Given the description of an element on the screen output the (x, y) to click on. 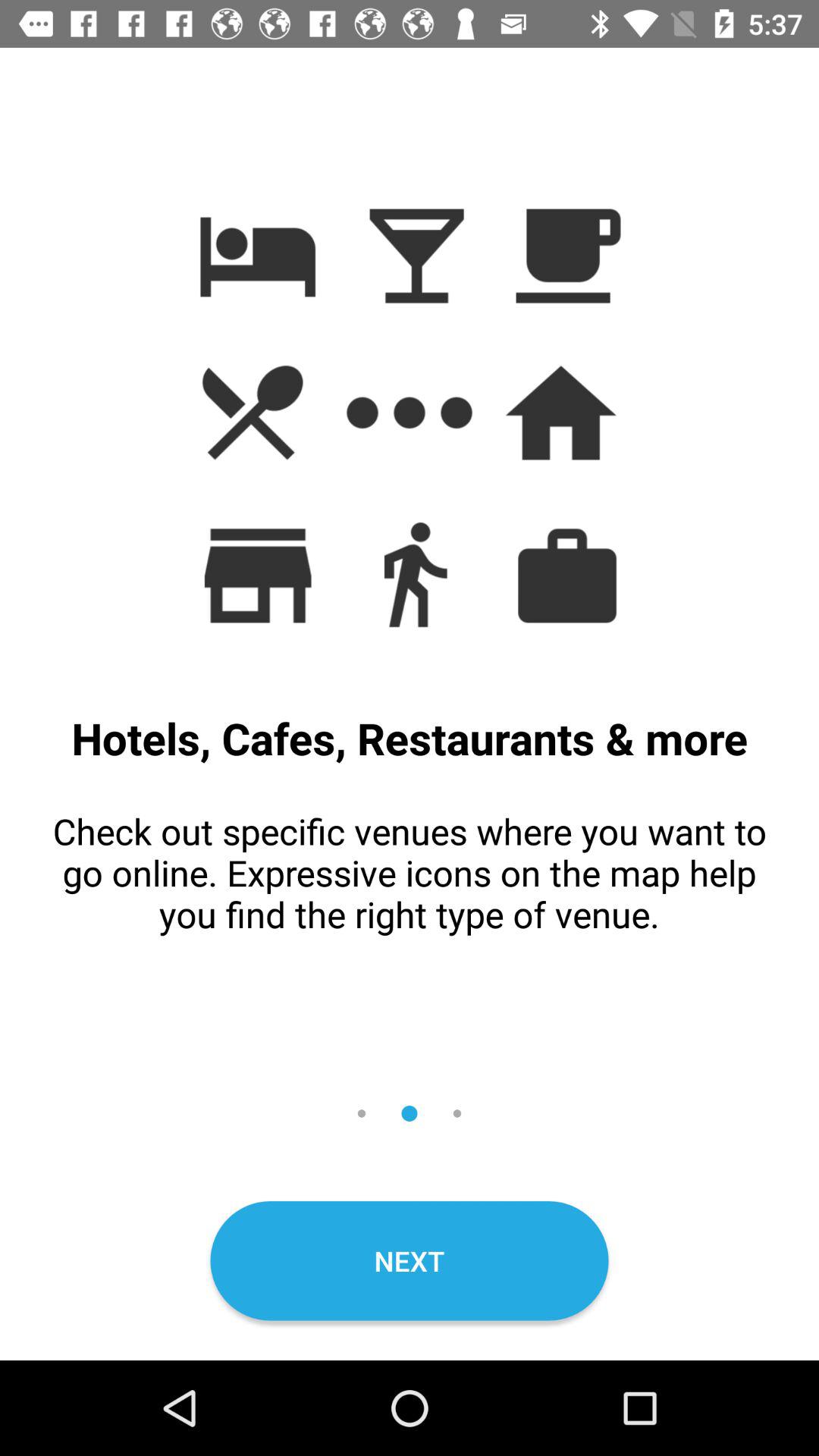
choose the icon below check out specific icon (409, 1260)
